Given the description of an element on the screen output the (x, y) to click on. 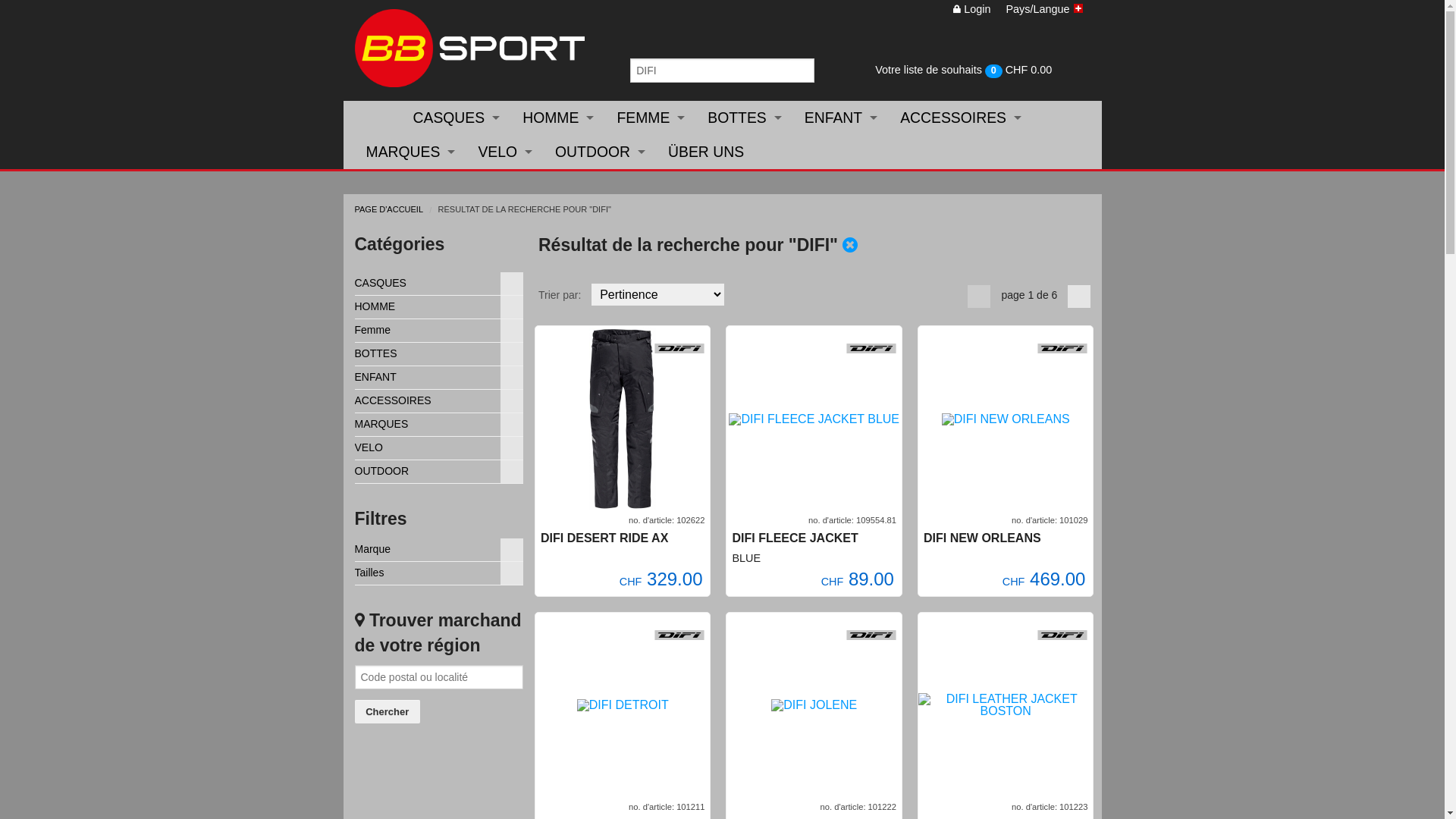
DIFI DETROIT (101211) Element type: hover (622, 705)
Chercher Element type: text (387, 710)
Femme Element type: text (439, 329)
DIFI JOLENE (101222) Element type: hover (813, 705)
Tailles Element type: text (439, 571)
Login Element type: text (971, 9)
BOTTES Element type: text (744, 117)
PAGE D'ACCUEIL Element type: text (388, 209)
OUTDOOR Element type: text (439, 470)
DIFI Element type: hover (1061, 634)
DIFI Element type: hover (870, 634)
DIFI Element type: hover (1061, 348)
ENFANT Element type: text (840, 117)
VELO Element type: text (504, 151)
FEMME Element type: text (650, 117)
CASQUES Element type: text (439, 282)
DIFI Element type: hover (679, 634)
DIFI FLEECE JACKET BLUE (109554.81) Element type: hover (813, 419)
MARQUES Element type: text (439, 423)
Search Element type: hover (801, 71)
VELO Element type: text (439, 446)
DIFI Element type: hover (679, 348)
OUTDOOR Element type: text (599, 151)
HOMME Element type: text (558, 117)
Pays/Langue Element type: text (1043, 9)
Votre liste de souhaits 0 CHF 0.00 Element type: text (985, 70)
ENFANT Element type: text (439, 376)
MARQUES Element type: text (410, 151)
HOMME Element type: text (439, 305)
BOTTES Element type: text (439, 352)
ACCESSOIRES Element type: text (960, 117)
CASQUES Element type: text (456, 117)
ACCESSOIRES Element type: text (439, 399)
DIFI DESERT RIDE AX (102622) Element type: hover (622, 418)
Marque Element type: text (439, 548)
DIFI NEW ORLEANS (101029.81) Element type: hover (1005, 419)
DIFI LEATHER JACKET BOSTON (101223) Element type: hover (1005, 705)
DIFI Element type: hover (870, 348)
